Given the description of an element on the screen output the (x, y) to click on. 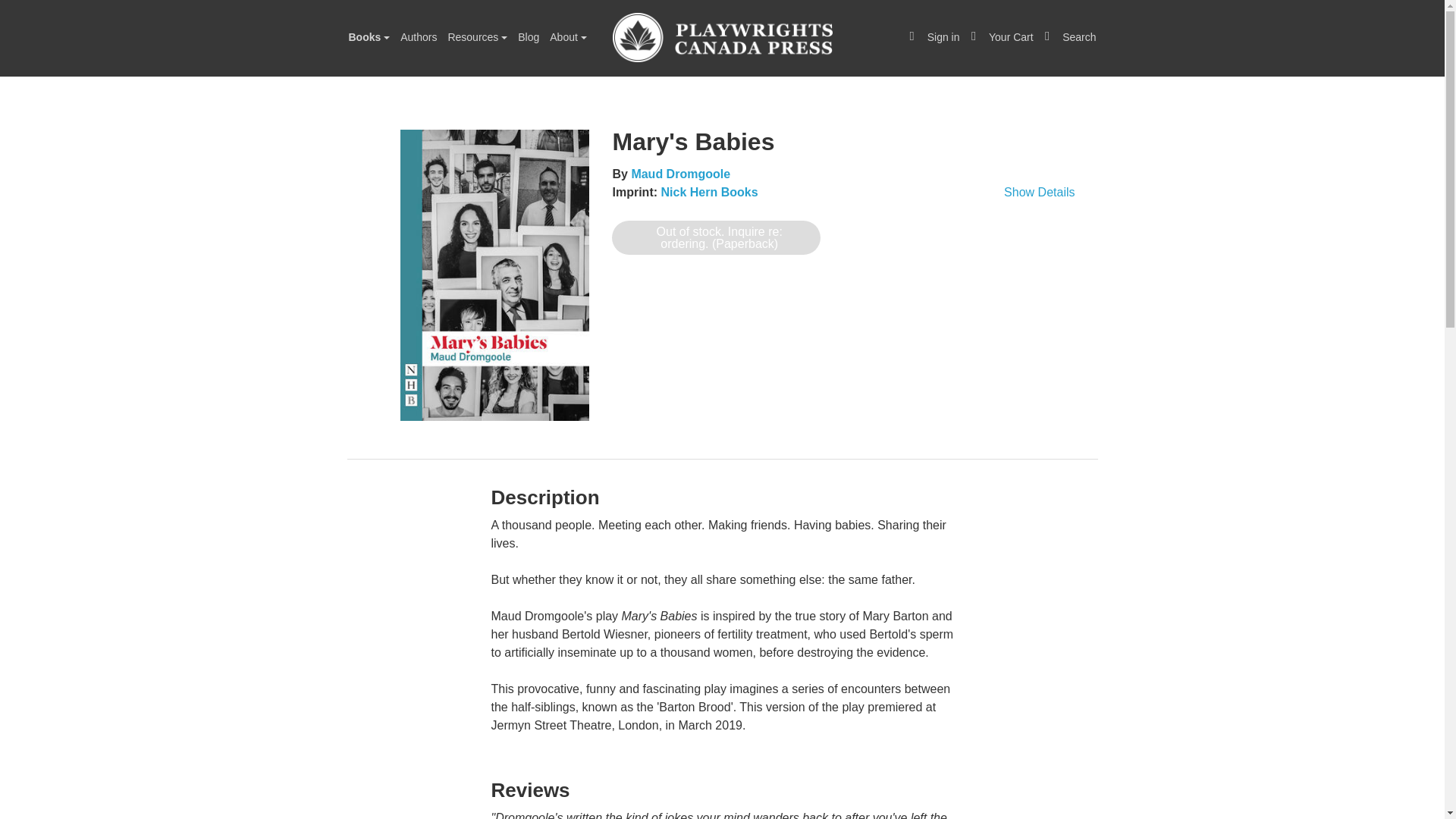
Resources (477, 36)
Show Details (842, 192)
Maud Dromgoole (680, 173)
Books (368, 36)
Your Cart (1002, 36)
Mary's Babies (494, 275)
Sign in (932, 36)
Authors (418, 36)
Blog (528, 36)
Nick Hern Books (709, 192)
Search (1070, 36)
About (567, 36)
